Given the description of an element on the screen output the (x, y) to click on. 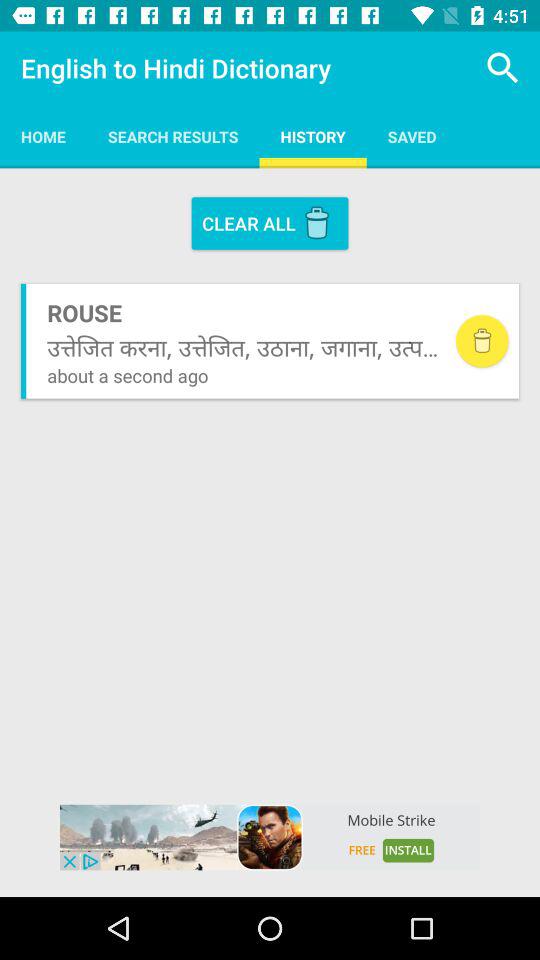
mobile strike (270, 837)
